Given the description of an element on the screen output the (x, y) to click on. 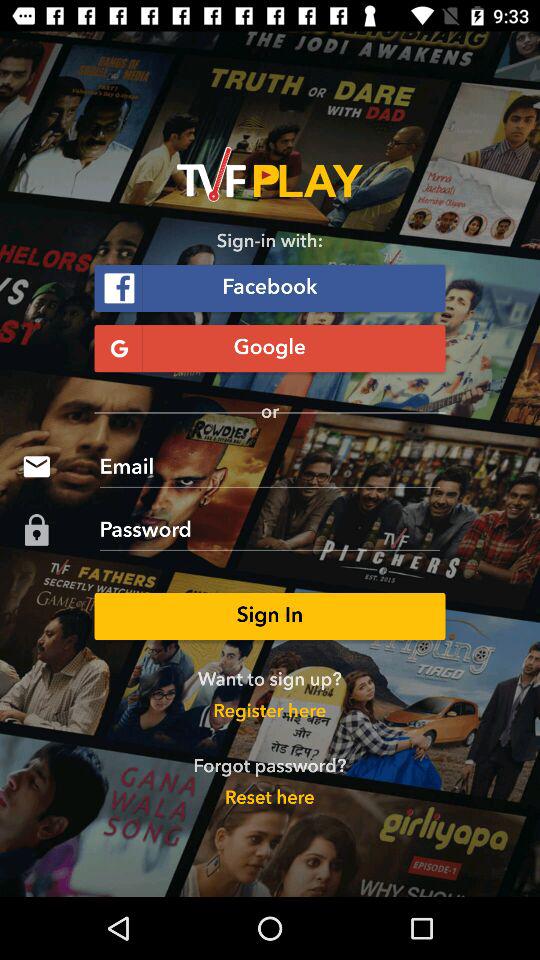
scroll to the reset here item (269, 798)
